Given the description of an element on the screen output the (x, y) to click on. 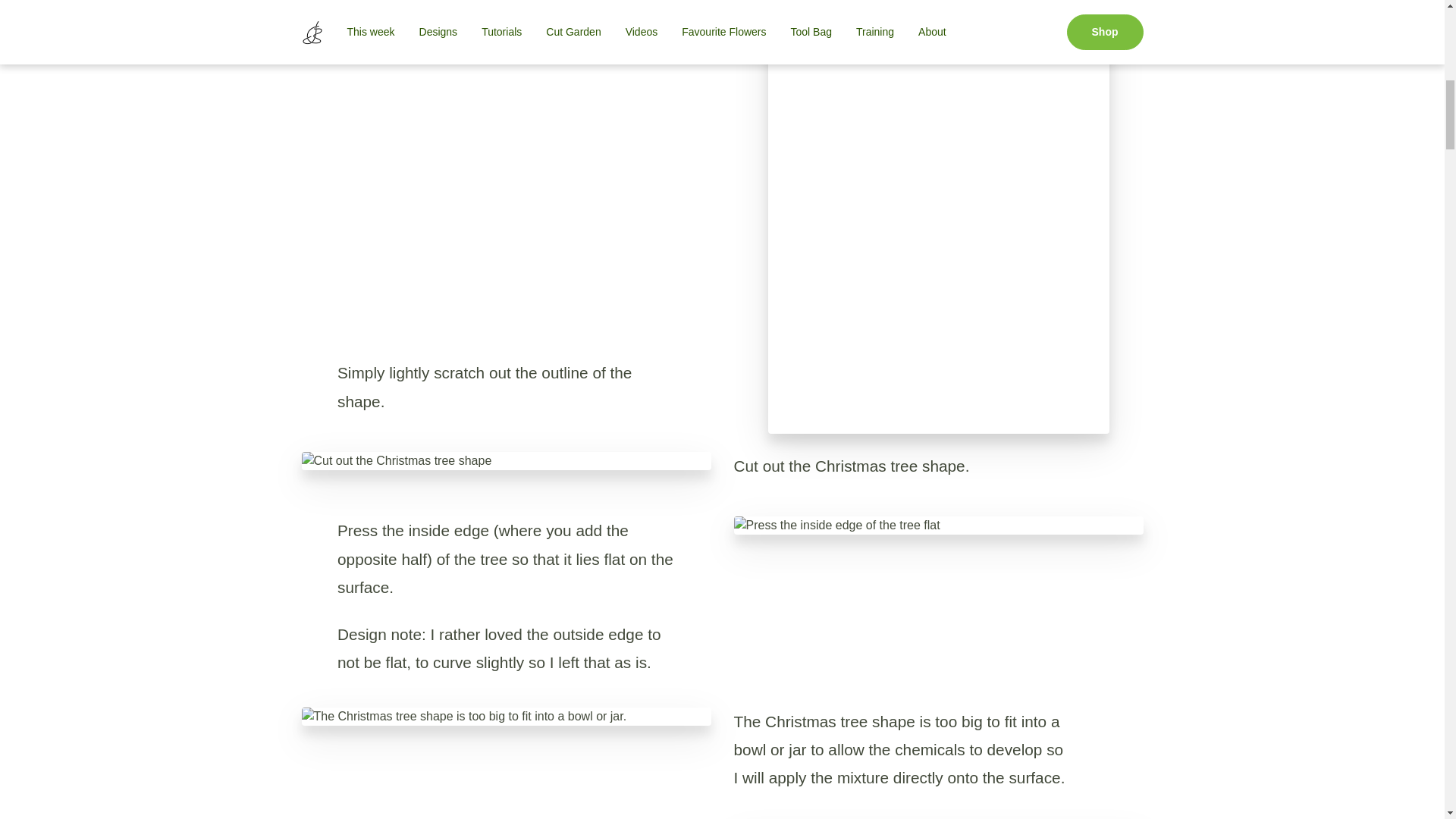
Cut out the Christmas tree shape (506, 461)
Press the inside edge of the tree flat (937, 525)
